Given the description of an element on the screen output the (x, y) to click on. 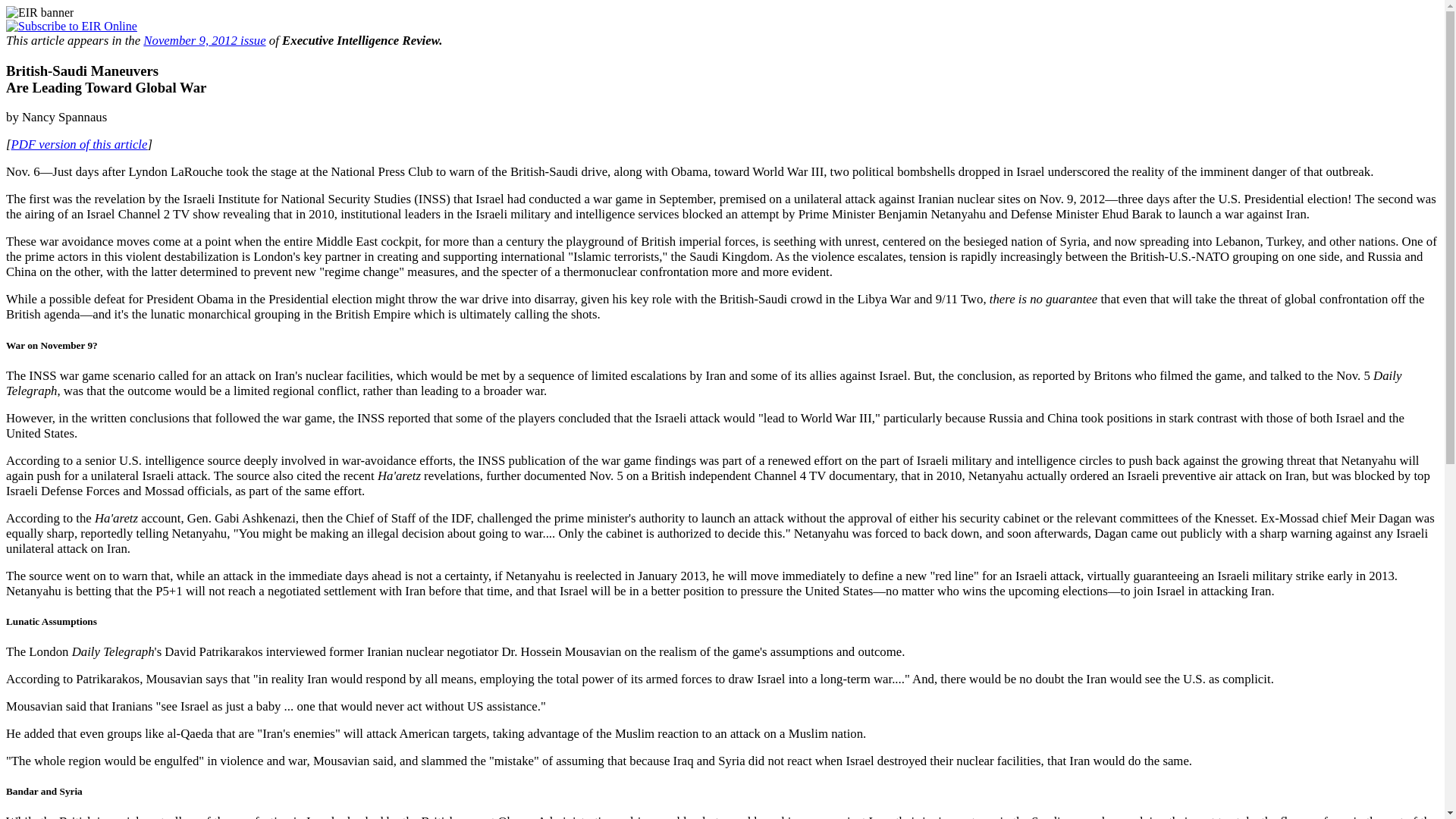
Subscribe to EIR Online (70, 26)
November 9, 2012 issue (203, 40)
PDF version of this article (79, 144)
